Given the description of an element on the screen output the (x, y) to click on. 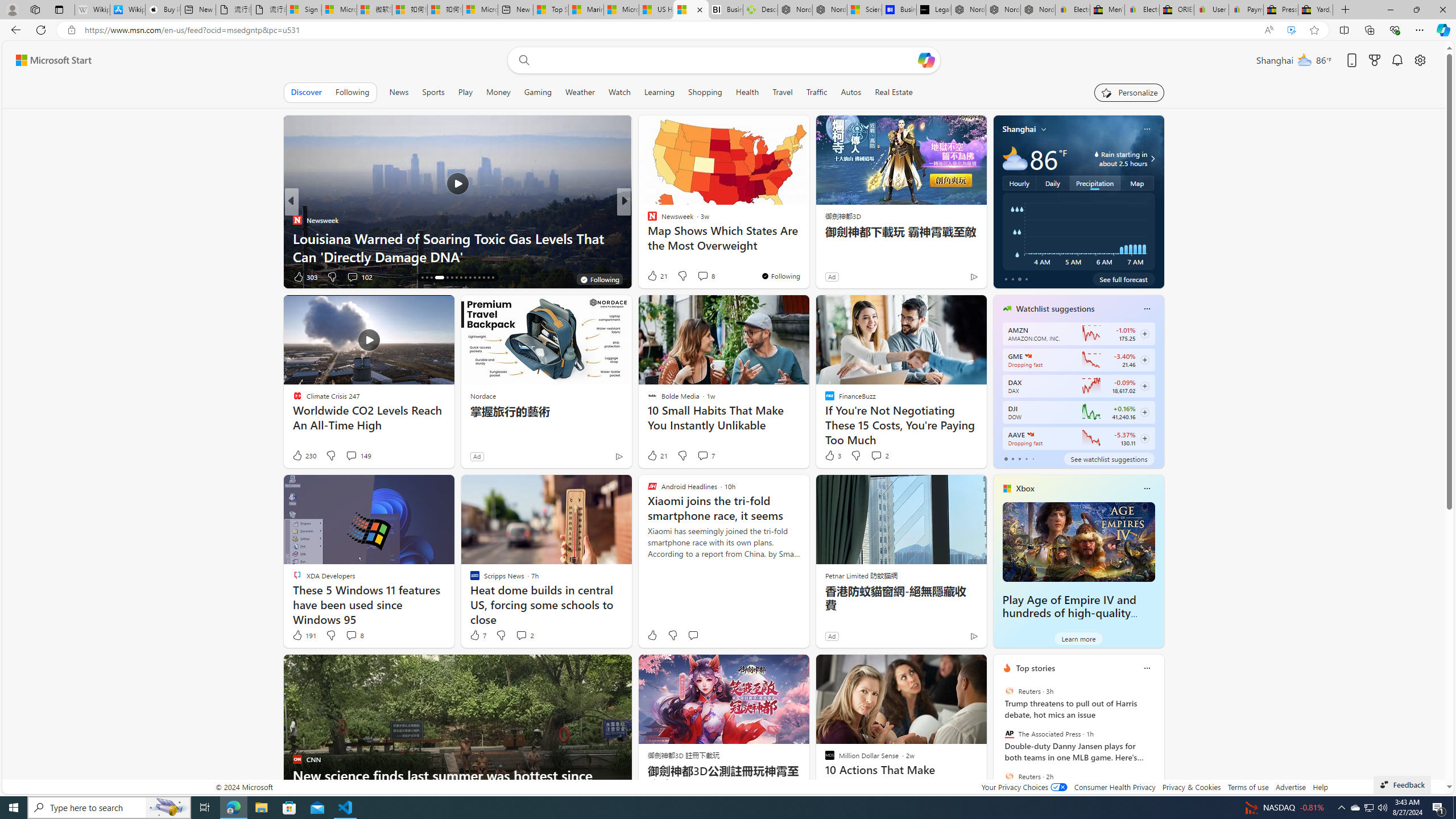
View comments 265 Comment (703, 276)
My location (1043, 128)
You're following Newsweek (780, 275)
14 Like (652, 276)
